Given the description of an element on the screen output the (x, y) to click on. 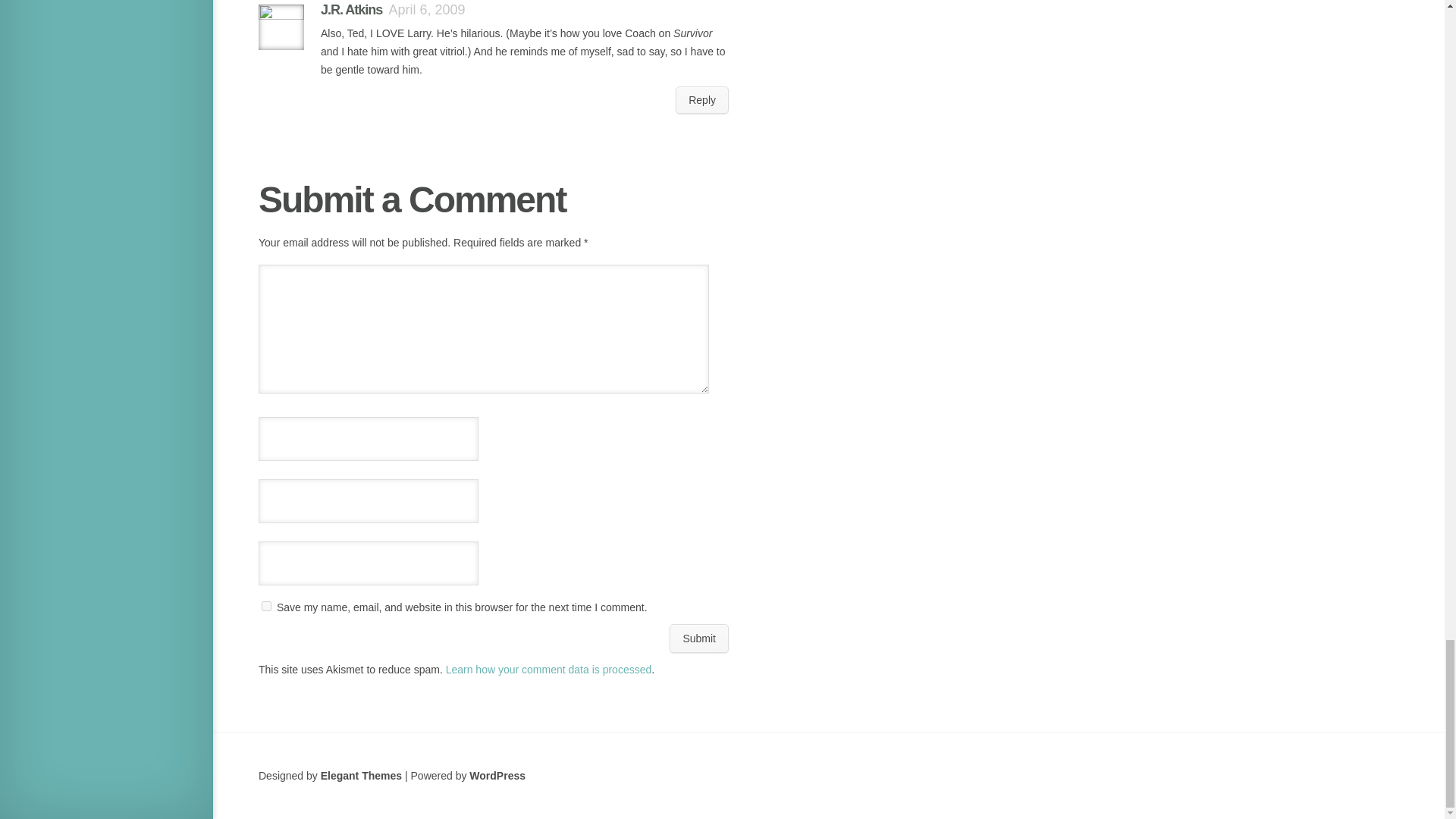
Submit (699, 638)
WordPress (496, 775)
Submit (699, 638)
Elegant Themes (360, 775)
Premium WordPress Themes (360, 775)
Reply (702, 99)
yes (266, 605)
Learn how your comment data is processed (548, 669)
J.R. Atkins (350, 9)
